Given the description of an element on the screen output the (x, y) to click on. 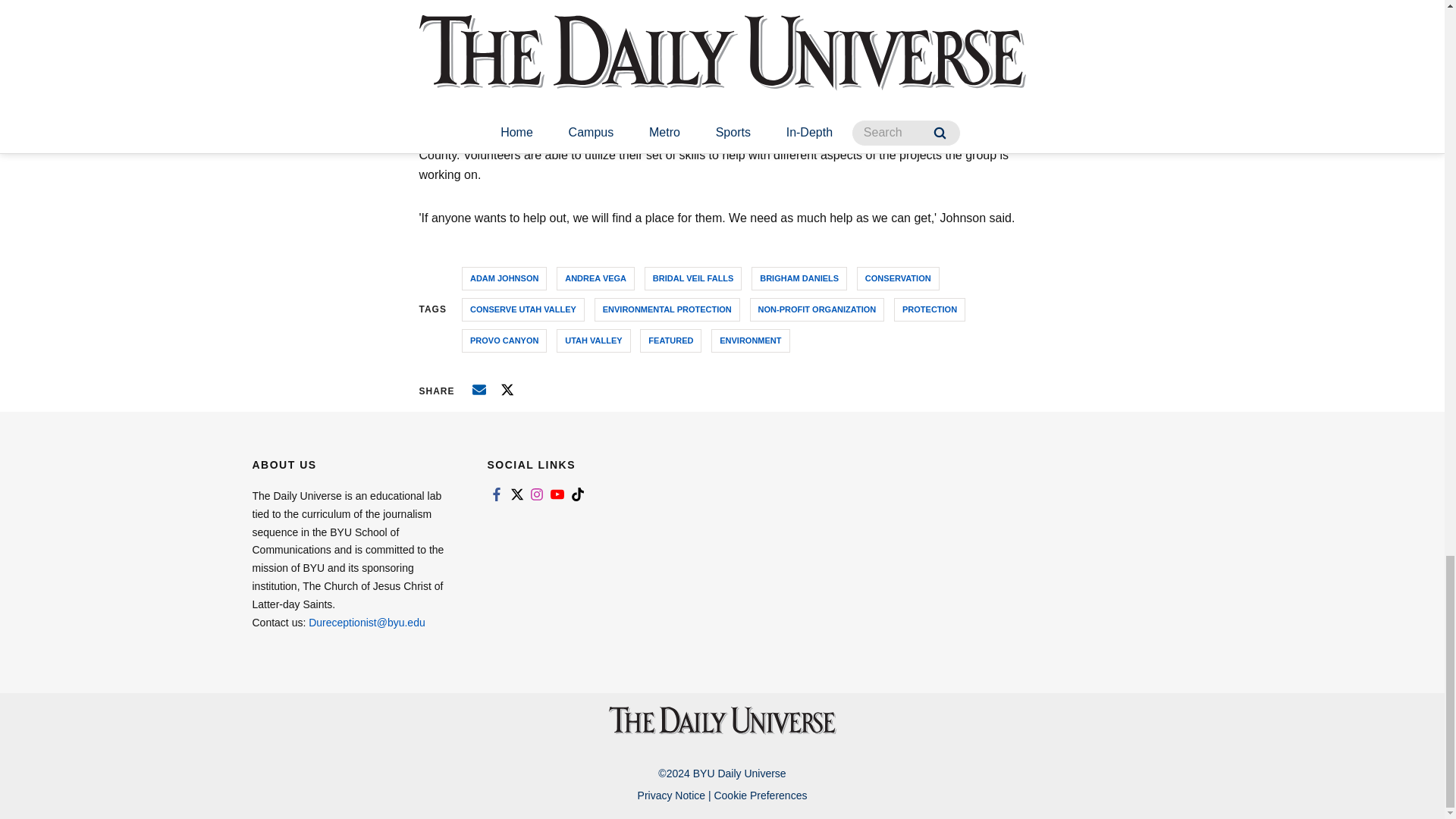
NON-PROFIT ORGANIZATION (817, 309)
Link to twitter (515, 494)
PROVO CANYON (504, 340)
ANDREA VEGA (595, 278)
BRIGHAM DANIELS (799, 278)
FEATURED (670, 340)
BRIDAL VEIL FALLS (693, 278)
Link to tiktok (577, 494)
Link to instagram (536, 494)
Link to youtube (557, 494)
